Given the description of an element on the screen output the (x, y) to click on. 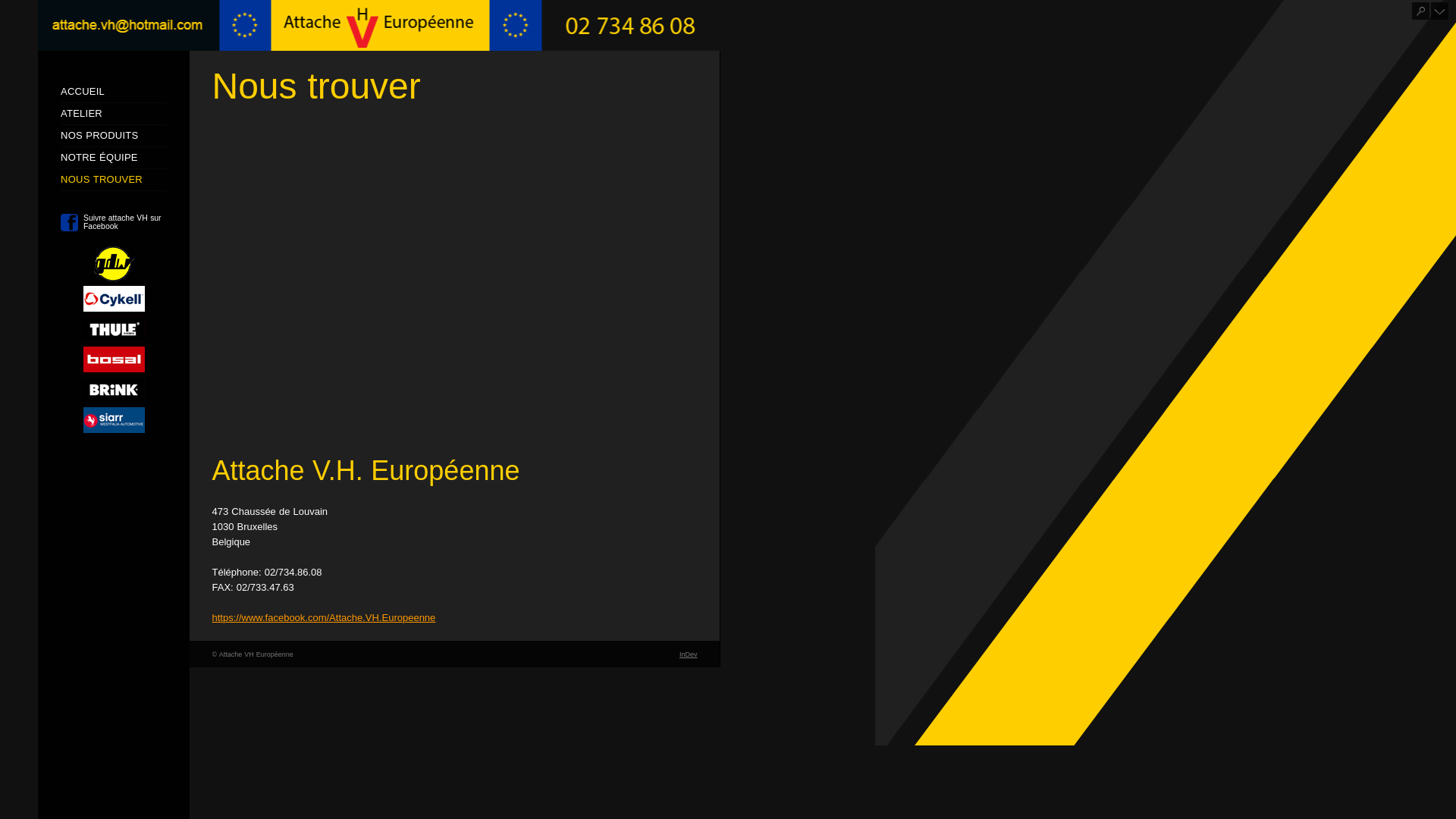
submit Element type: text (1420, 10)
ACCUEIL Element type: text (82, 91)
NOS PRODUITS Element type: text (99, 135)
ATELIER Element type: text (81, 113)
NOUS TROUVER Element type: text (101, 179)
InDev Element type: text (688, 654)
Suivre attache VH sur Facebook Element type: text (113, 222)
https://www.facebook.com/Attache.VH.Europeenne Element type: text (324, 617)
